Given the description of an element on the screen output the (x, y) to click on. 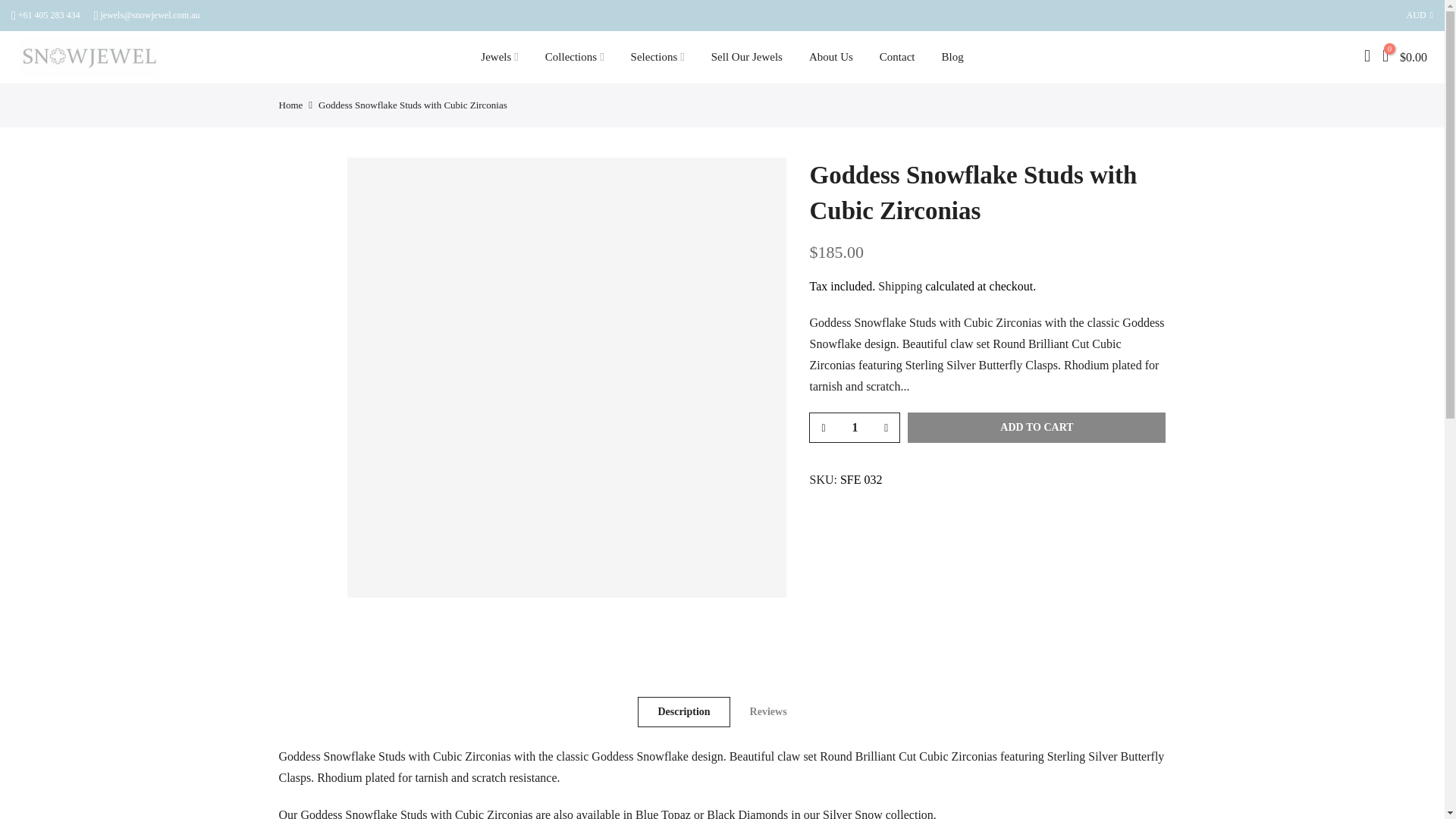
Home (290, 105)
Jewels (499, 57)
Blog (952, 57)
Collections (574, 57)
Sell Our Jewels (745, 57)
Goddess Snowflake Studs with Black Diamonds (746, 813)
1 (854, 427)
Selections (657, 57)
Silver Snow collection (852, 813)
About Us (830, 57)
Shipping (899, 286)
Contact (897, 57)
Goddess Snowflake Studs with Blue Topaz (662, 813)
